Given the description of an element on the screen output the (x, y) to click on. 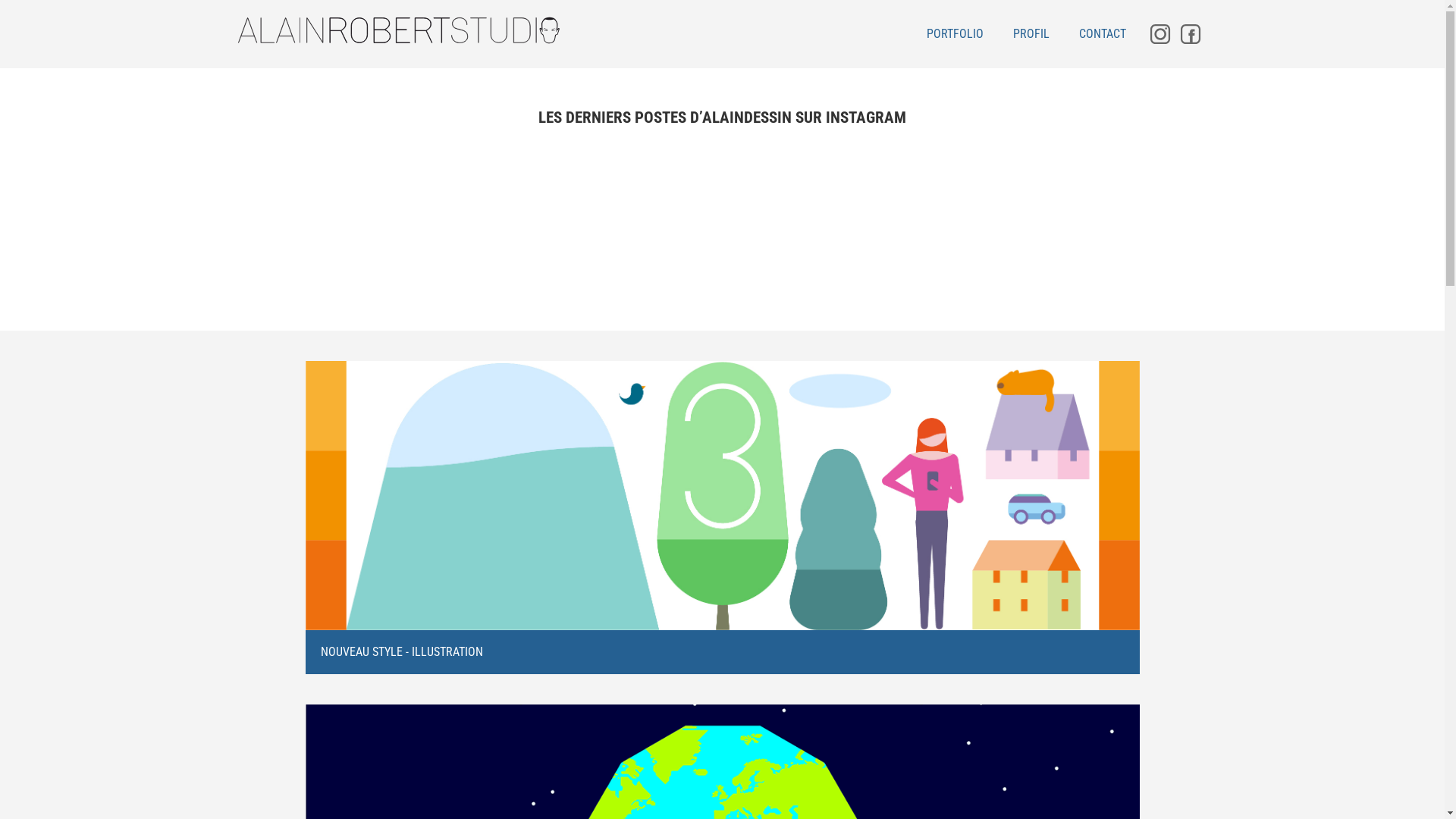
NOUVEAU STYLE - ILLUSTRATION Element type: text (721, 517)
